Given the description of an element on the screen output the (x, y) to click on. 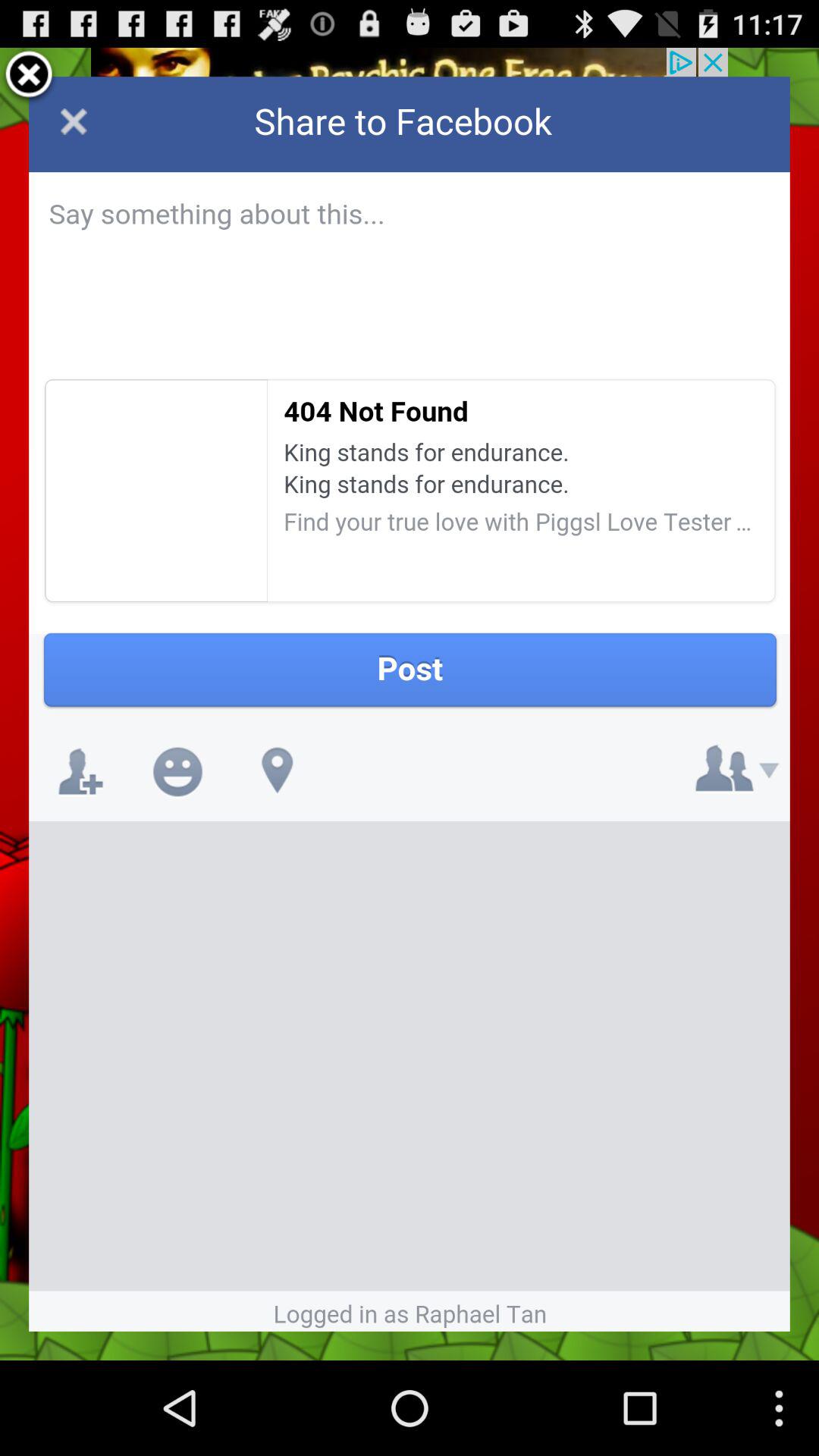
share article (409, 703)
